Given the description of an element on the screen output the (x, y) to click on. 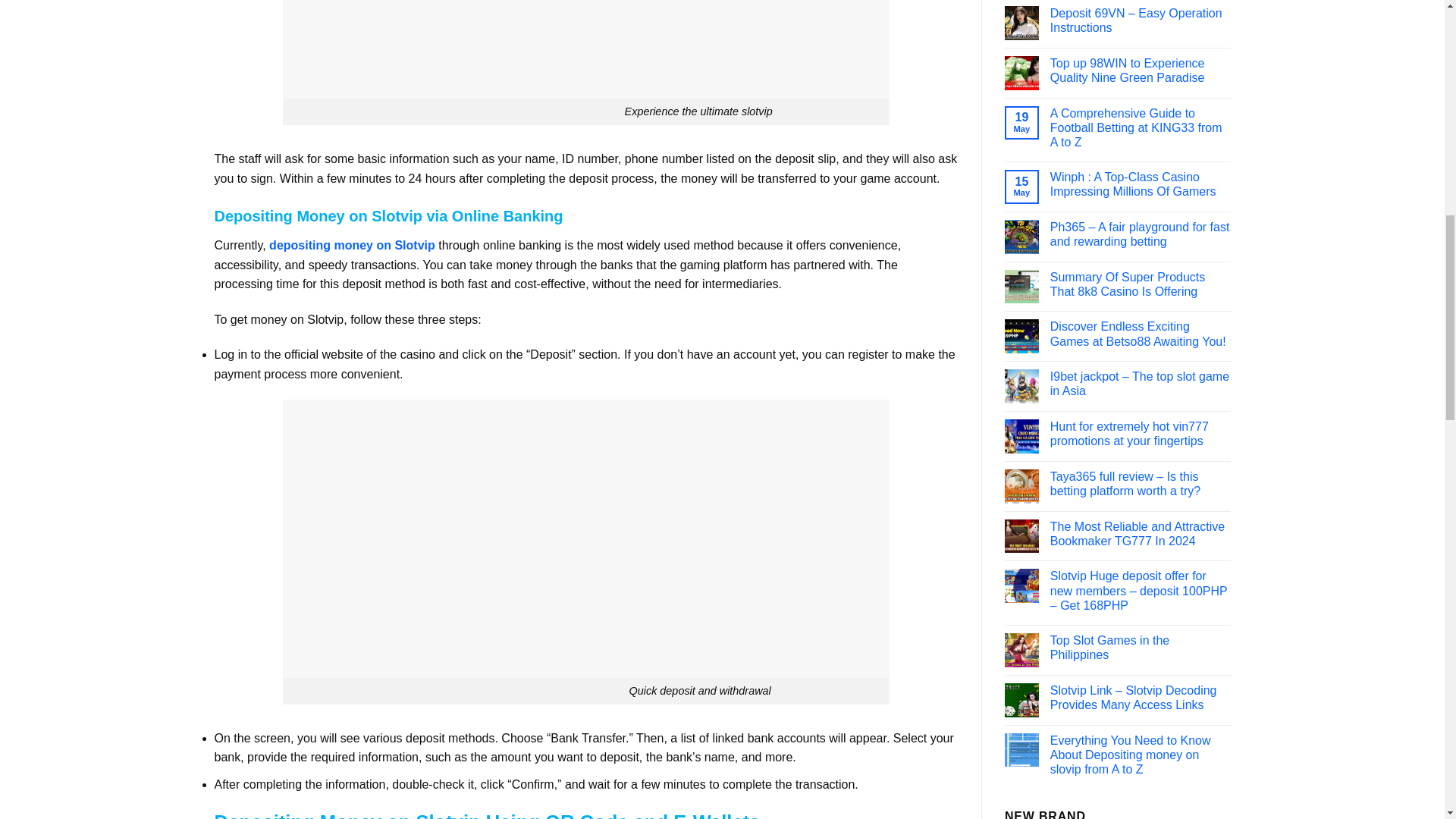
Discover Endless Exciting Games at Betso88 Awaiting You! (1139, 333)
depositing money on Slotvip (352, 245)
Top up 98WIN to Experience Quality Nine Green Paradise (1139, 70)
Top up 98WIN to Experience Quality Nine Green Paradise (1139, 70)
Summary Of Super Products That 8k8 Casino Is Offering (1139, 284)
Winph : A Top-Class Casino Impressing Millions Of Gamers (1139, 184)
